Given the description of an element on the screen output the (x, y) to click on. 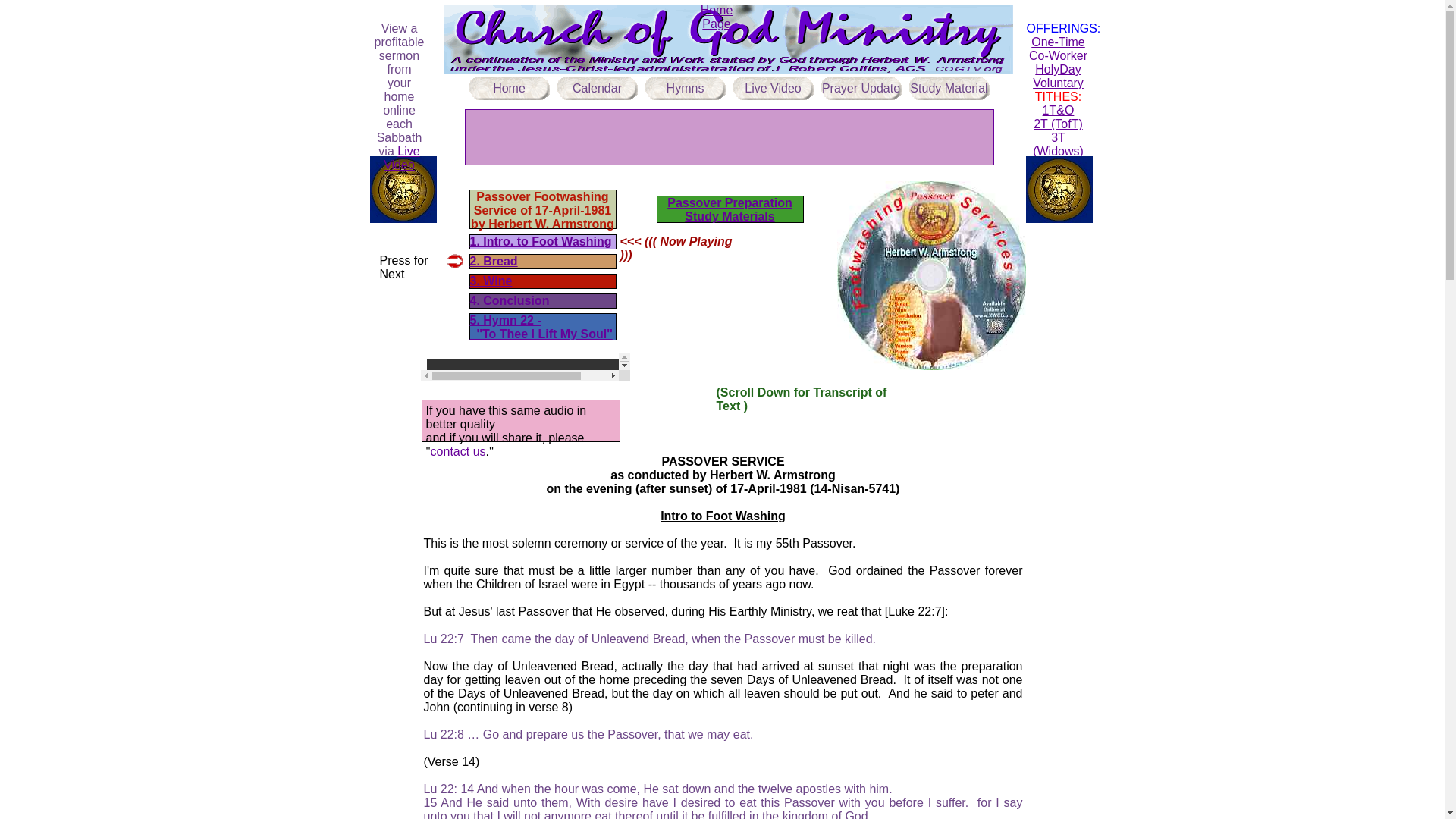
  ''To Thee I Lift My Soul'' (541, 333)
3. Wine (491, 280)
1. Intro. to Foot Washing (540, 241)
Hymns (685, 87)
Calendar (596, 87)
Live Video (772, 87)
One-Time (1057, 42)
Home Page (716, 17)
Voluntary (1057, 82)
2. Bread (494, 260)
Prayer Update (861, 87)
Home (508, 87)
4. Conclusion (510, 300)
Live Video (401, 157)
Co-Worker (1058, 55)
